Given the description of an element on the screen output the (x, y) to click on. 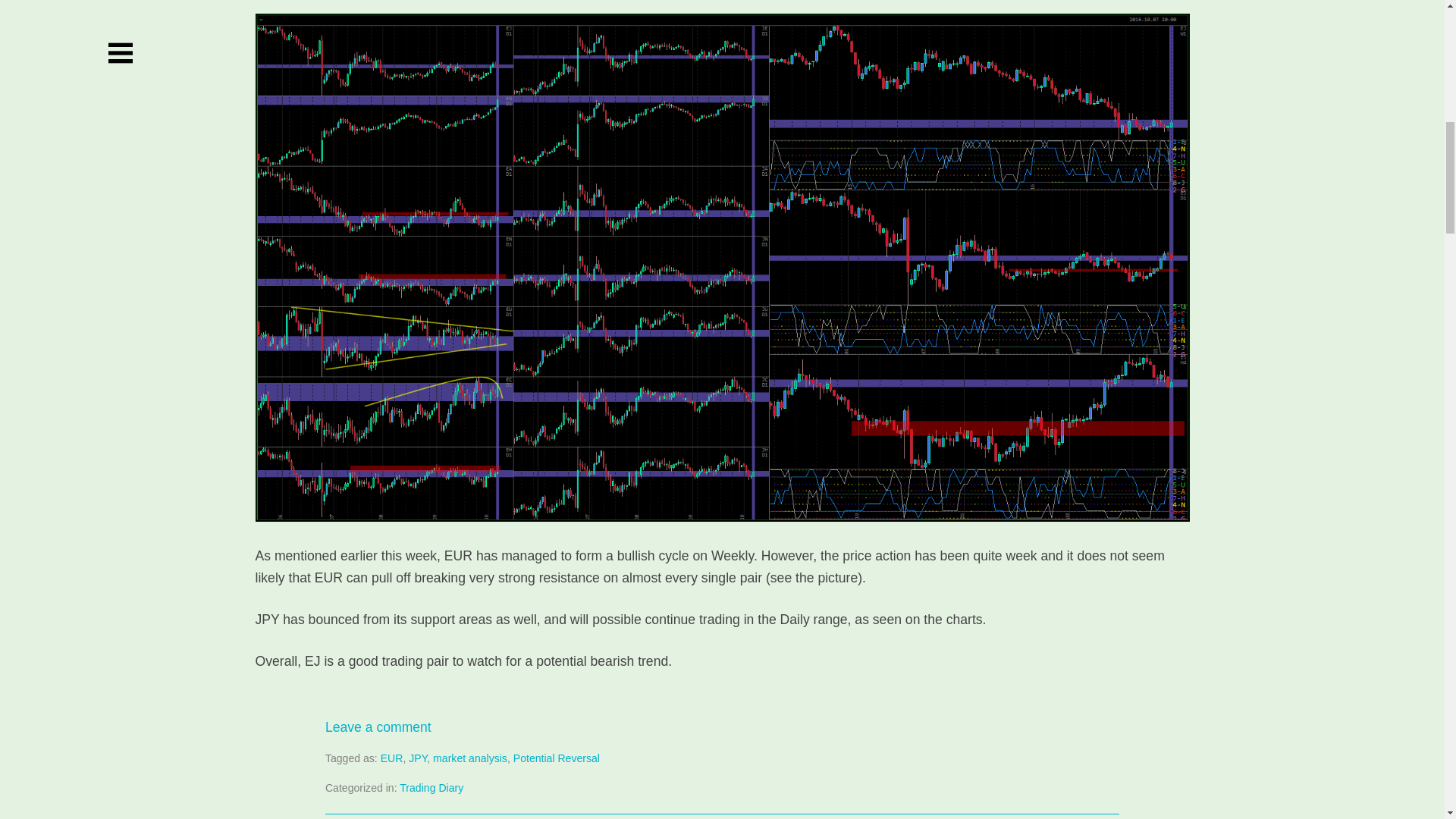
JPY (417, 758)
Trading Diary (430, 787)
EUR (391, 758)
Leave a comment (377, 726)
Potential Reversal (556, 758)
market analysis (469, 758)
